Given the description of an element on the screen output the (x, y) to click on. 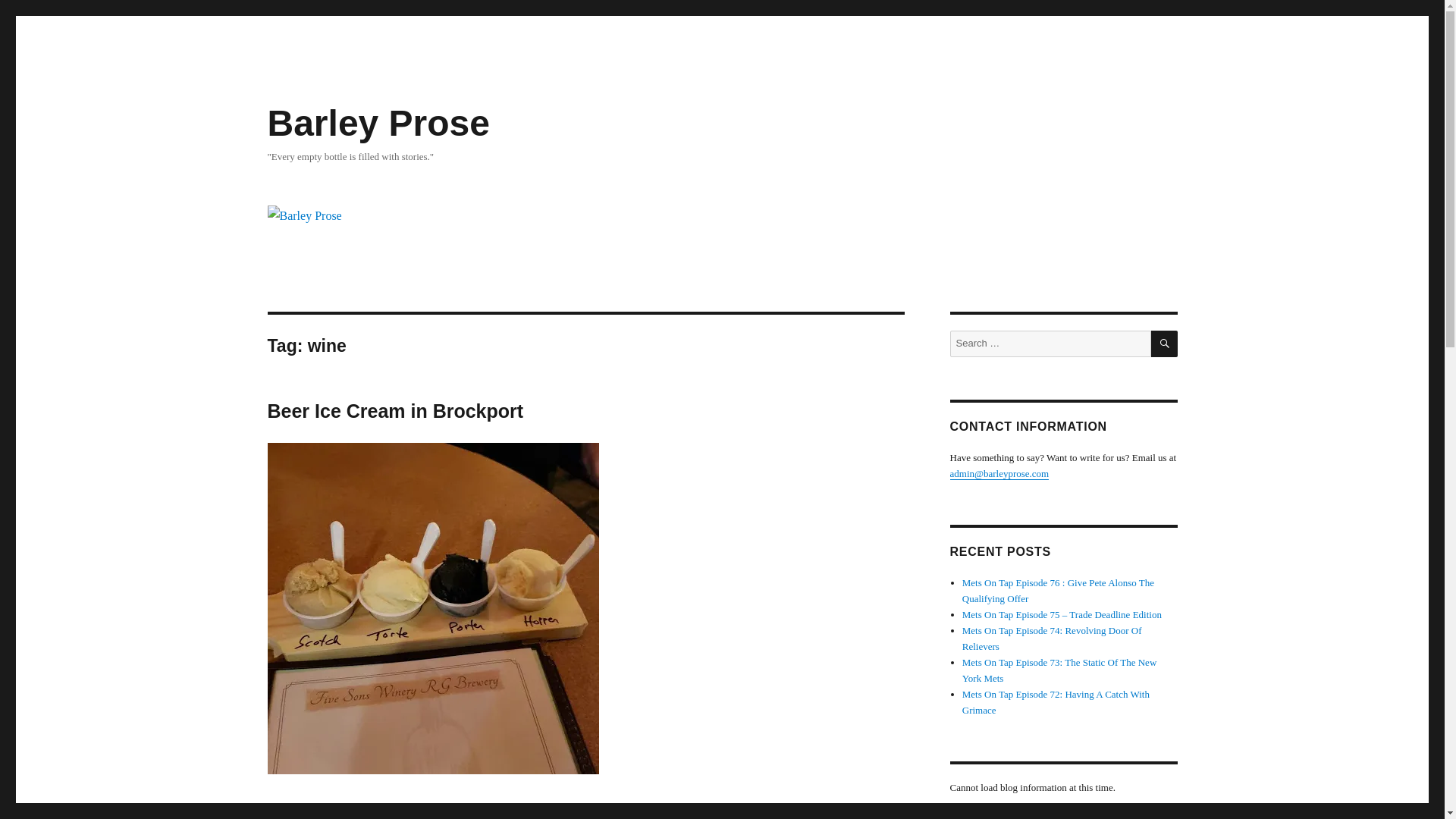
Beer Ice Cream in Brockport (394, 410)
Mets On Tap Episode 73: The Static Of The New York Mets (1059, 669)
Mets On Tap Episode 72: Having A Catch With Grimace (1056, 701)
SEARCH (1164, 343)
Barley Prose (377, 123)
Mets On Tap Episode 74: Revolving Door Of Relievers (1051, 637)
